Given the description of an element on the screen output the (x, y) to click on. 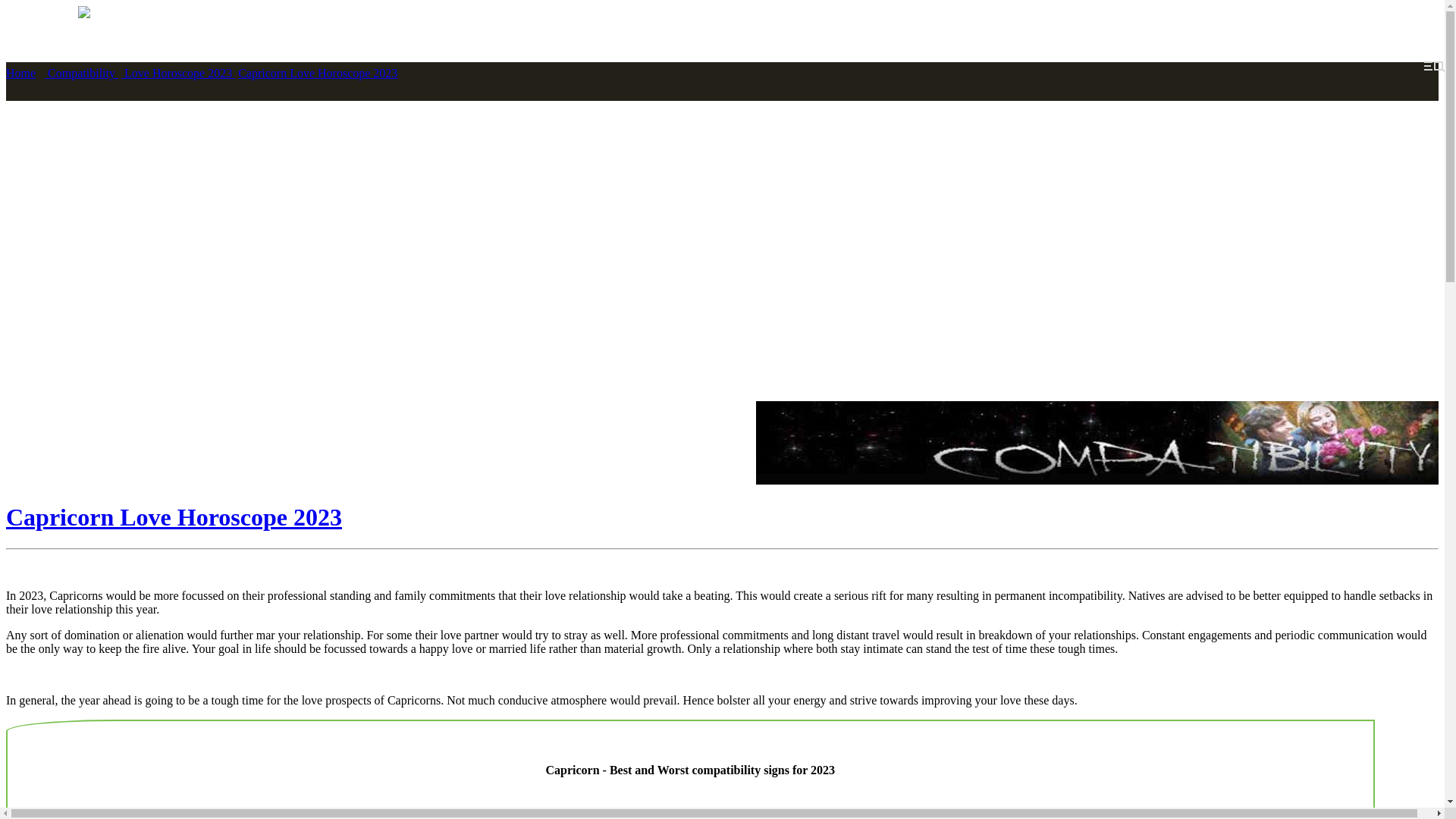
Capricorn Compatibility (1096, 442)
Capricorn Love Horoscope 2023 (317, 72)
Capricorn Love Horoscope 2023 (721, 517)
Love Horoscope 2023 (177, 72)
Home (19, 72)
Compatibility (81, 72)
